Given the description of an element on the screen output the (x, y) to click on. 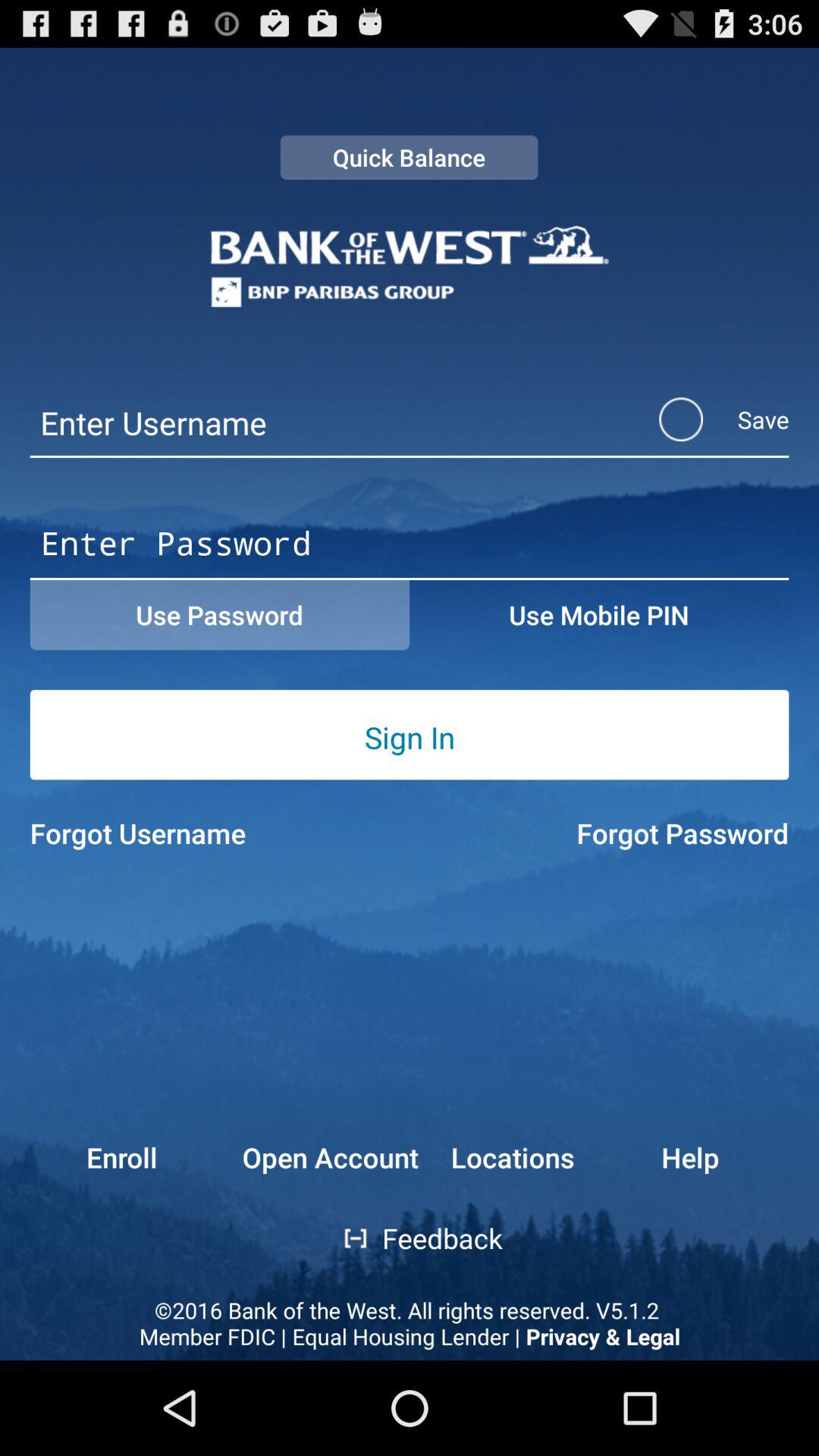
flip to sign in icon (409, 737)
